Given the description of an element on the screen output the (x, y) to click on. 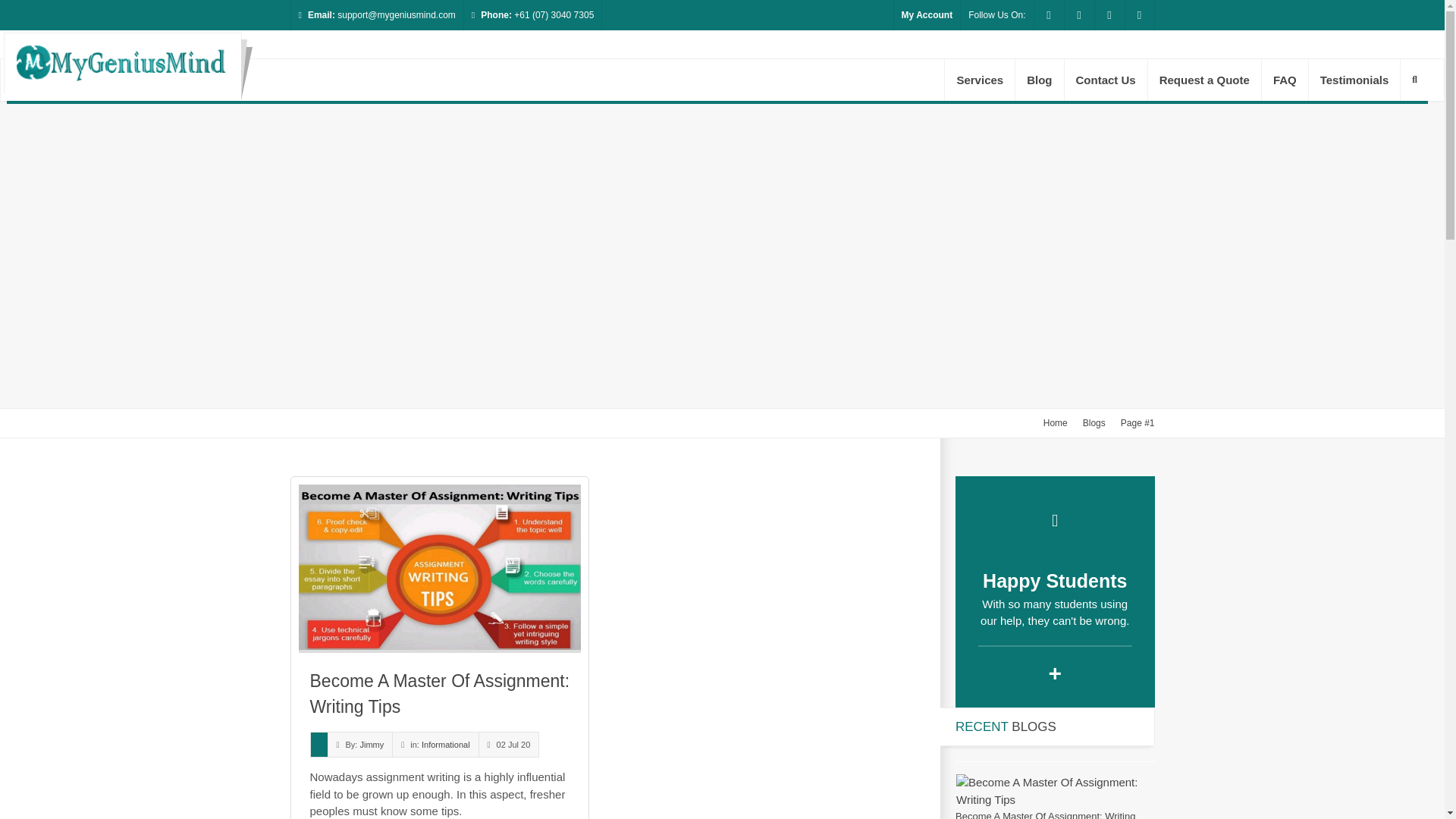
Writing Services (979, 79)
Services (979, 79)
Blog (1038, 79)
My Account (927, 15)
Contact Us (1105, 79)
